Given the description of an element on the screen output the (x, y) to click on. 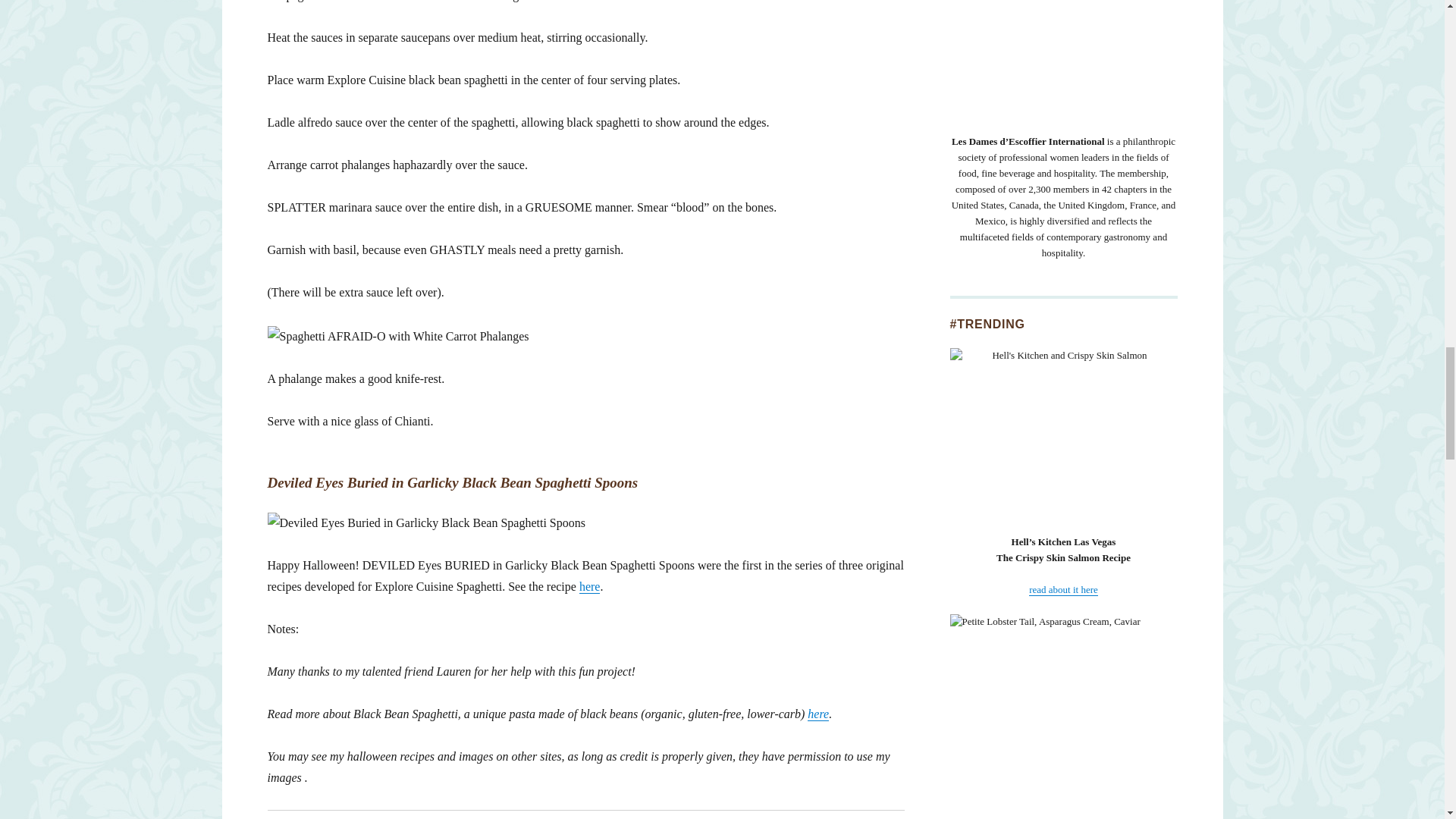
here (589, 585)
here (818, 713)
